Given the description of an element on the screen output the (x, y) to click on. 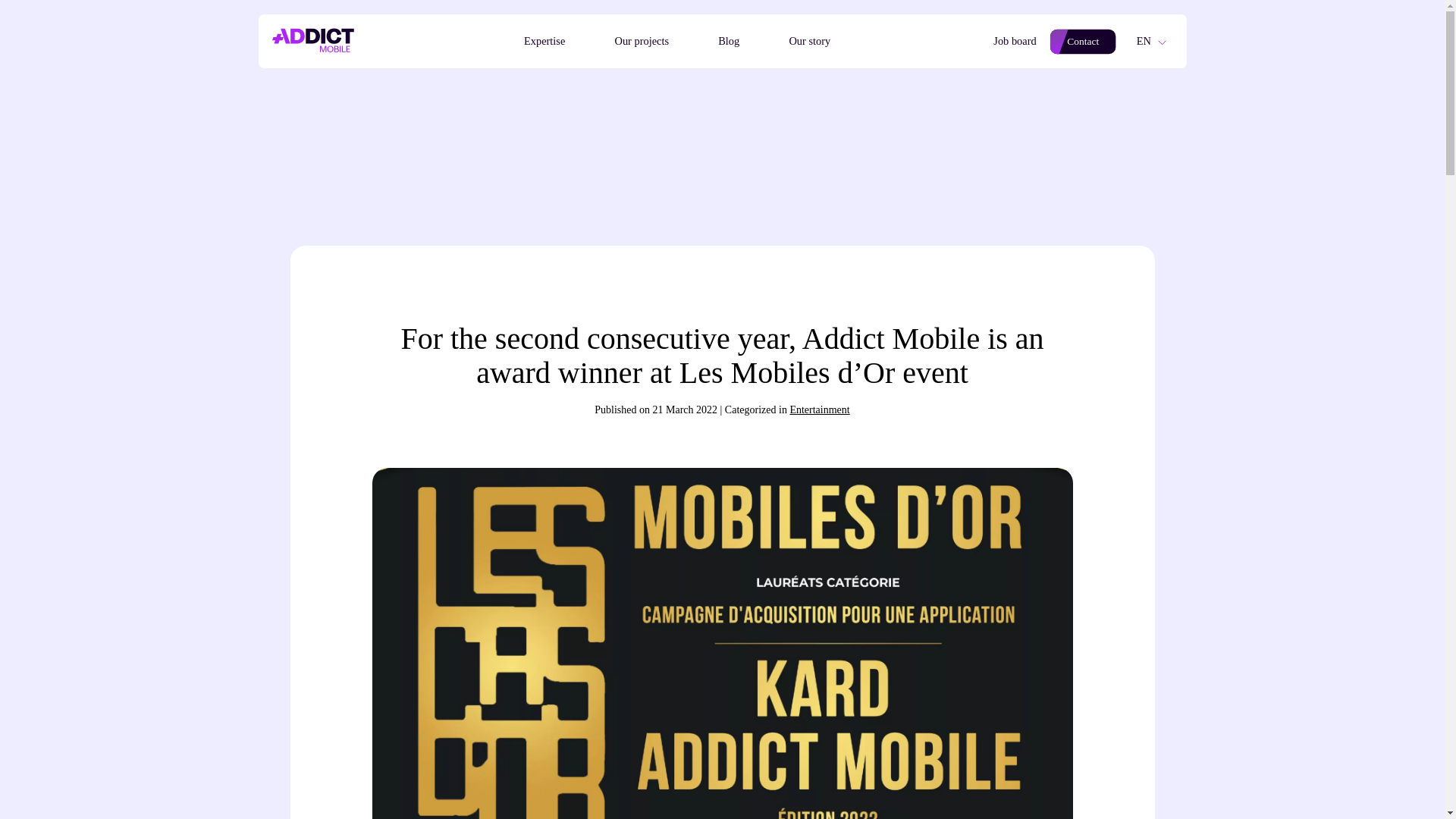
Our story (811, 42)
Job board (1016, 42)
Contact (1084, 41)
Blog (729, 42)
Expertise (546, 42)
Our projects (644, 42)
EN (1156, 41)
Entertainment (818, 409)
